Given the description of an element on the screen output the (x, y) to click on. 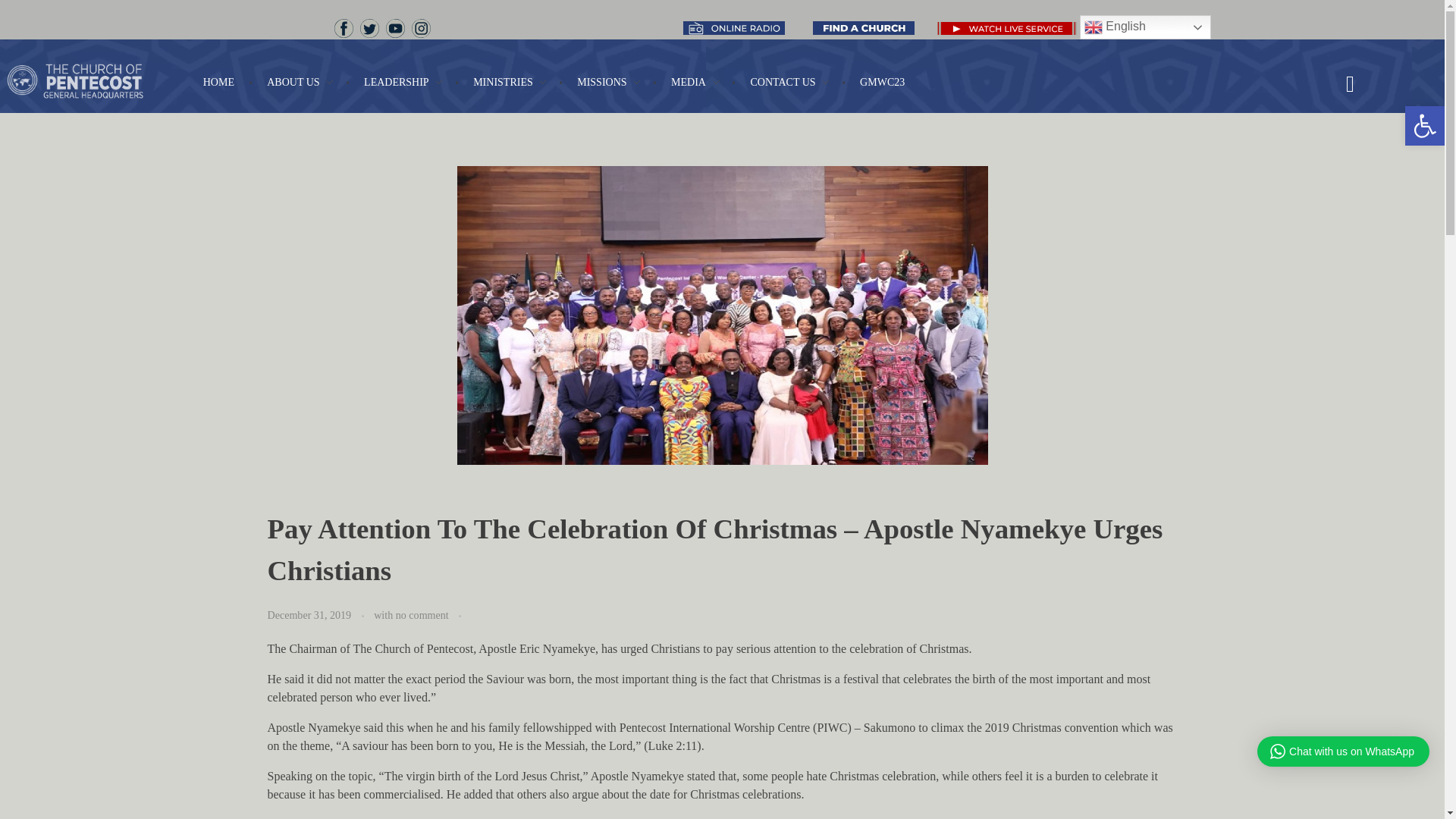
THE CHURCH OF PENTECOST (101, 80)
Accessibility Tools (1424, 125)
HOME (228, 82)
ABOUT US (301, 82)
English (1145, 27)
THE CHURCH OF PENTECOST (133, 116)
